Given the description of an element on the screen output the (x, y) to click on. 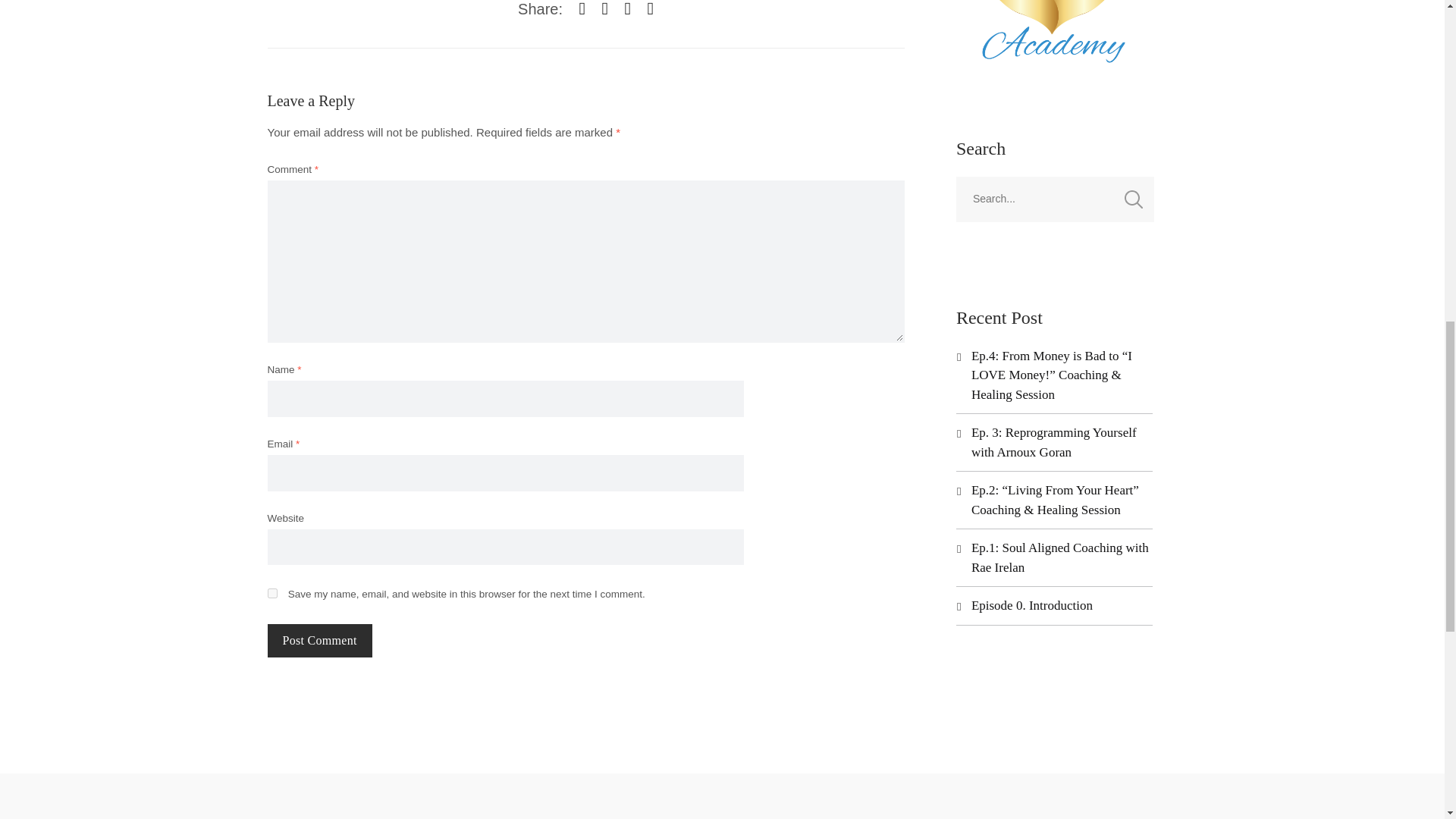
Post Comment (318, 640)
yes (271, 593)
